Given the description of an element on the screen output the (x, y) to click on. 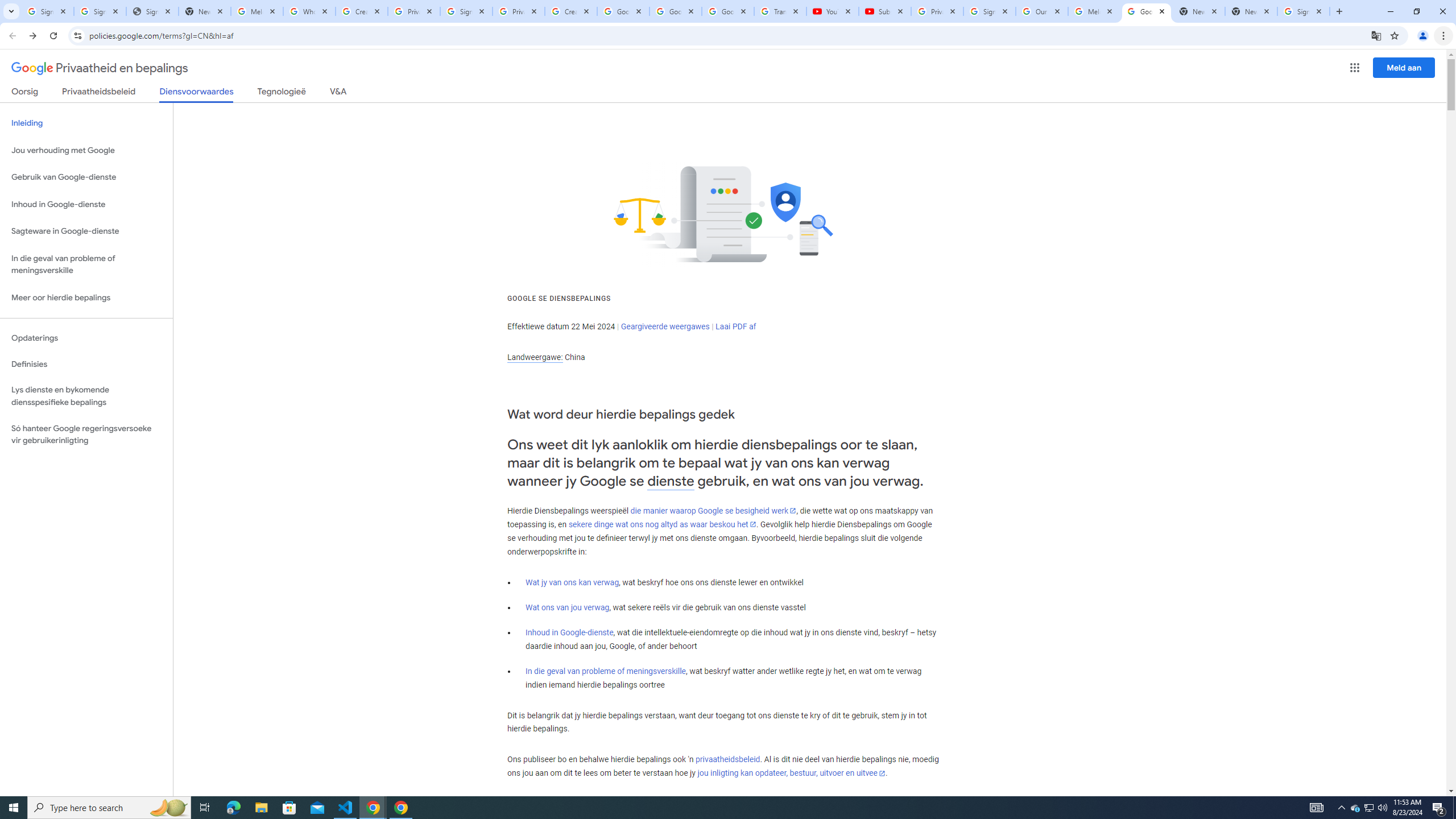
Translate this page (1376, 35)
Sagteware in Google-dienste (86, 230)
Privaatheidsbeleid (98, 93)
Subscriptions - YouTube (884, 11)
Create your Google Account (361, 11)
Diensvoorwaardes (196, 94)
Sign in - Google Accounts (466, 11)
Wat ons van jou verwag (567, 606)
V&A (337, 93)
New Tab (1251, 11)
Sign in - Google Accounts (989, 11)
Landweergawe: (534, 357)
